Given the description of an element on the screen output the (x, y) to click on. 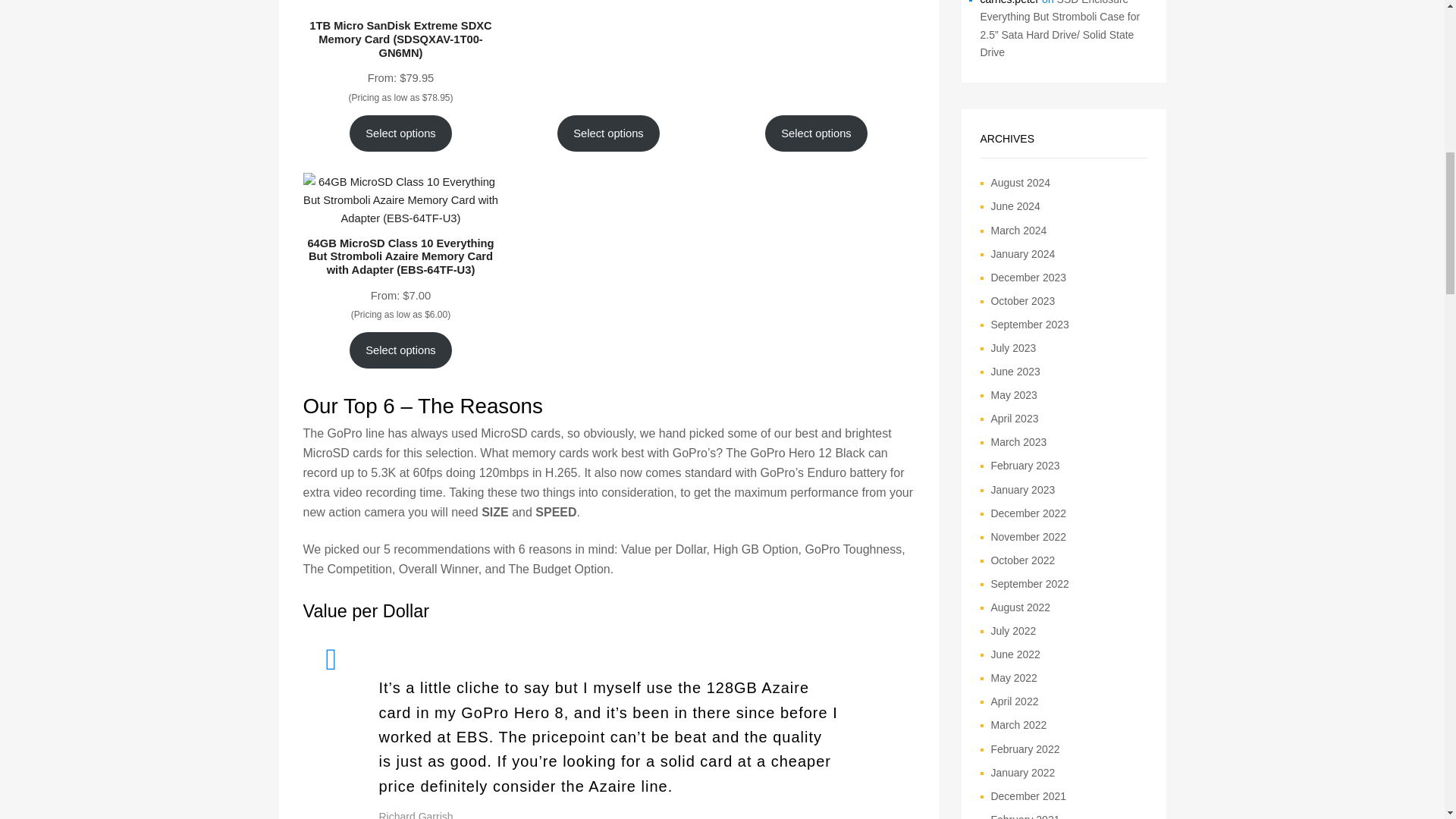
Select options (400, 350)
Select options (609, 133)
Select options (816, 133)
Select options (400, 133)
